Given the description of an element on the screen output the (x, y) to click on. 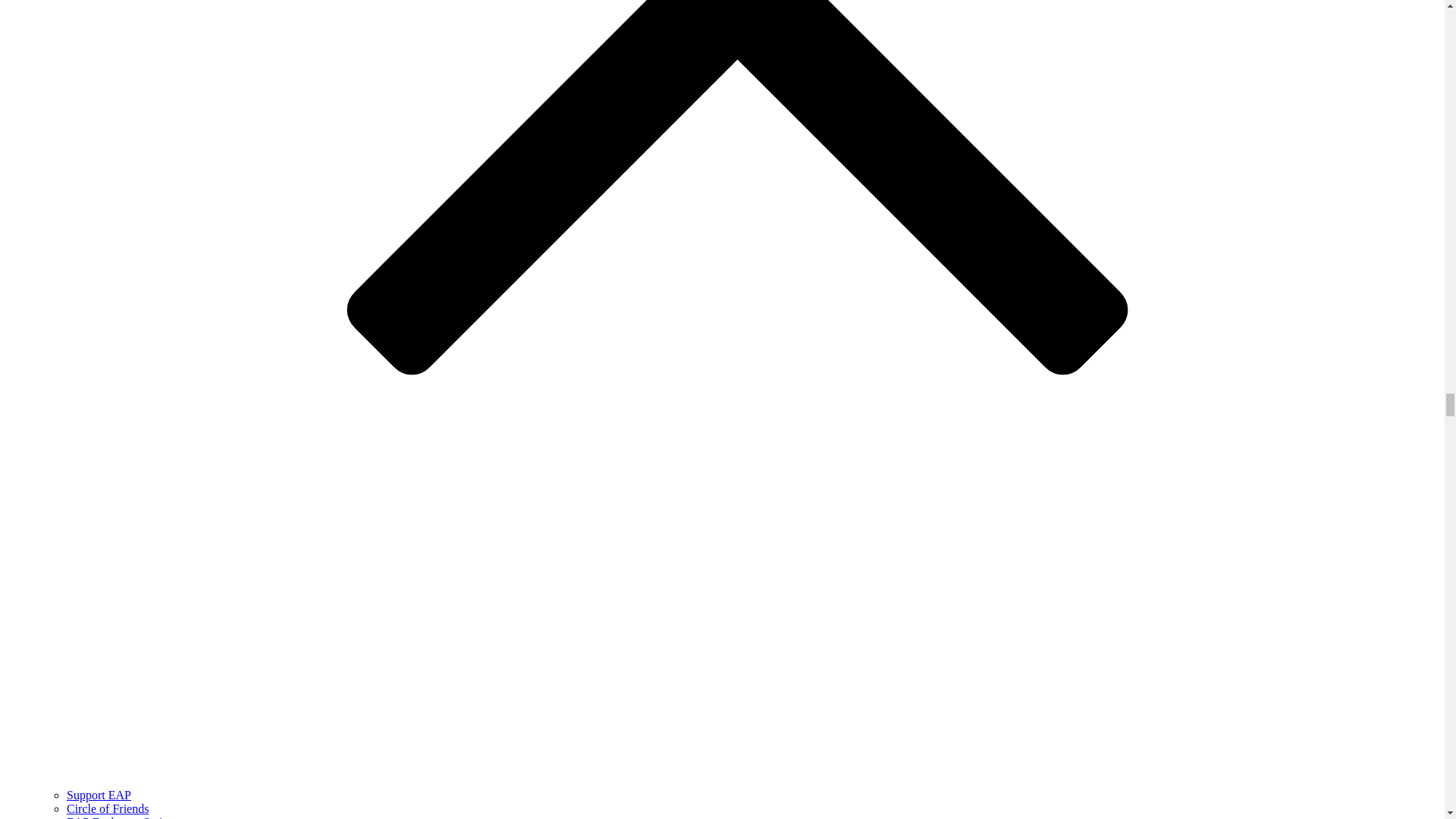
EAP Exchange Series (119, 817)
Circle of Friends (107, 808)
Support EAP (98, 794)
